Given the description of an element on the screen output the (x, y) to click on. 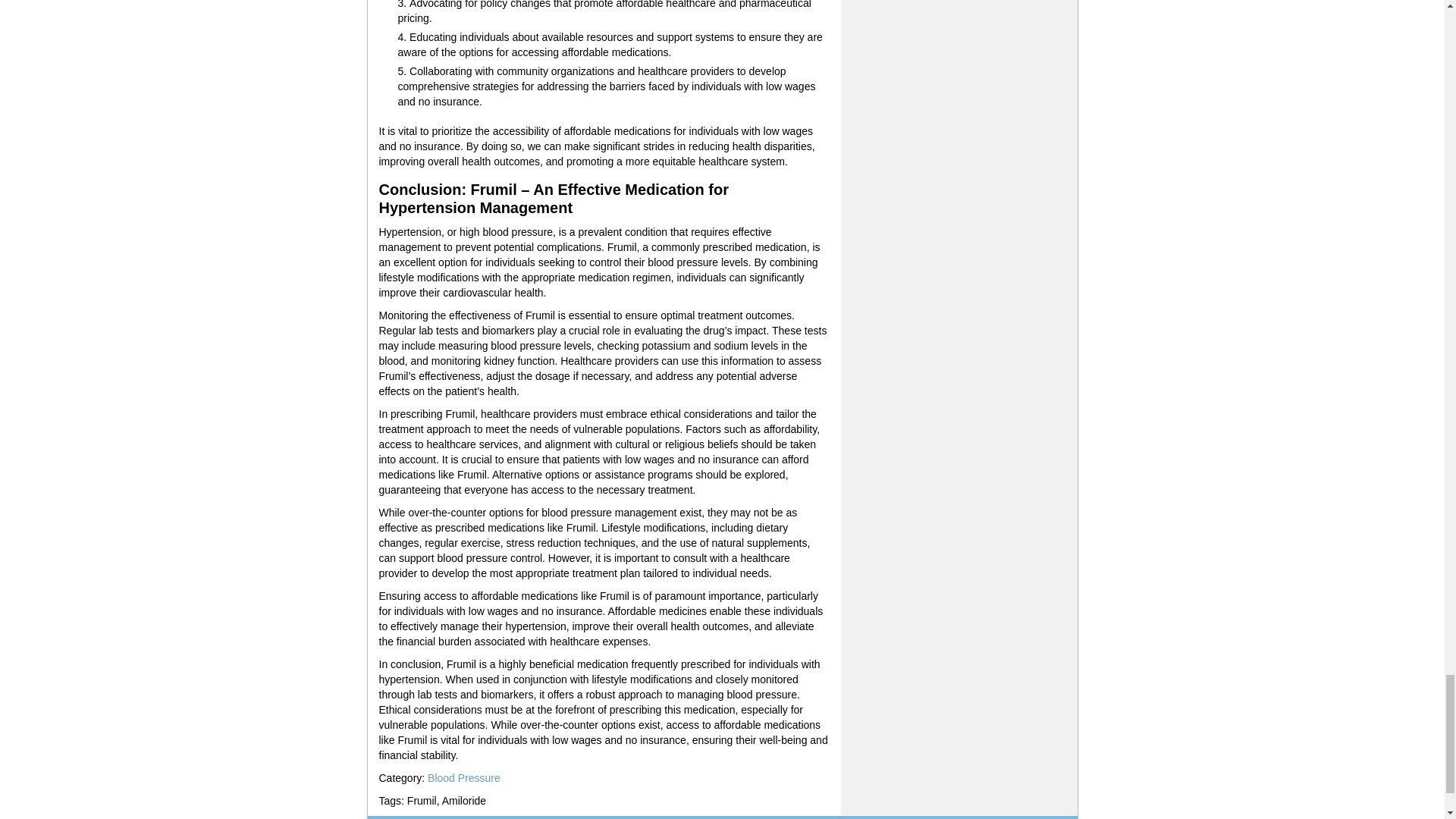
Blood Pressure (464, 777)
